Given the description of an element on the screen output the (x, y) to click on. 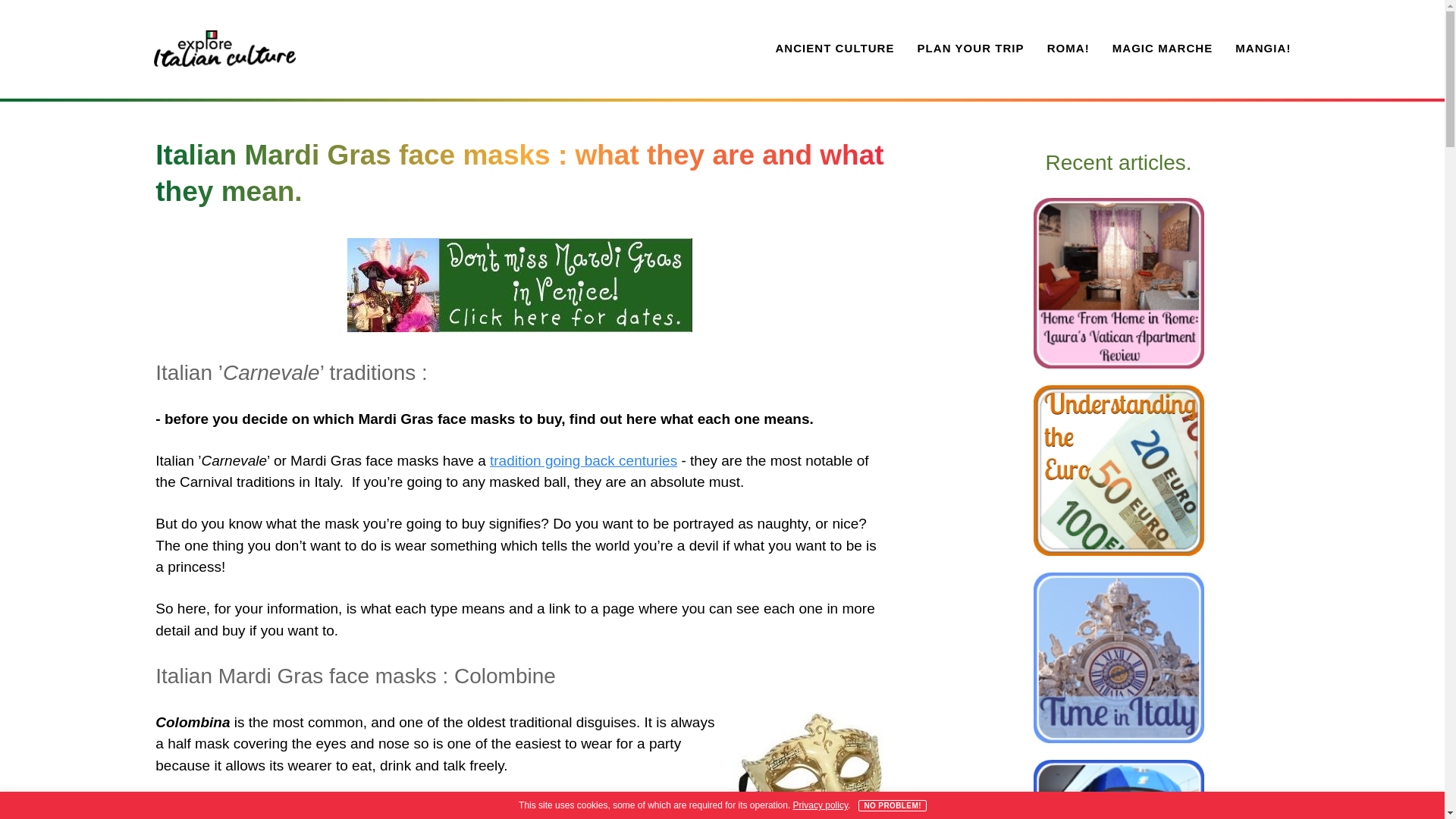
Go to What's the current time in Italy? (1118, 738)
Go to When is Mardi Gras in Italy? (520, 326)
Go to The best ever apartment to rent in Rome. (1118, 364)
Make sure of the dates for Mardi Gras! (520, 285)
Understanding the Euro in Italy - click to see more. (1118, 470)
Mardi Gras face masks Colombine (807, 765)
